Given the description of an element on the screen output the (x, y) to click on. 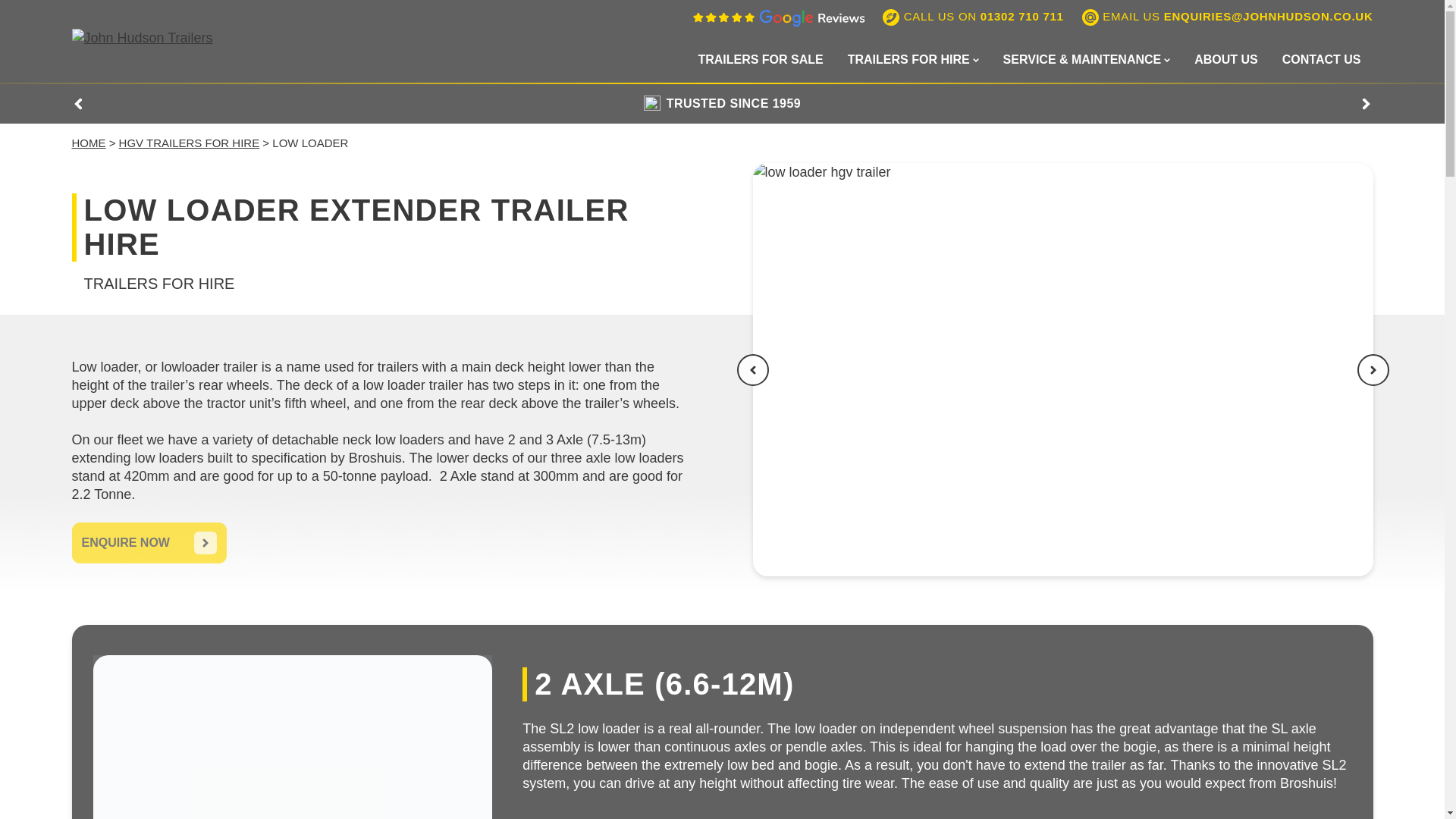
CALL US ON 01302 710 711 (973, 17)
Trailers for sale (759, 59)
HOME (87, 142)
TRAILERS FOR HIRE (913, 59)
TRAILERS FOR SALE (759, 59)
CONTACT US (1321, 59)
Trailers for Hire (913, 59)
HGV TRAILERS FOR HIRE (189, 142)
ABOUT US (1225, 59)
ENQUIRE NOW (148, 542)
